Given the description of an element on the screen output the (x, y) to click on. 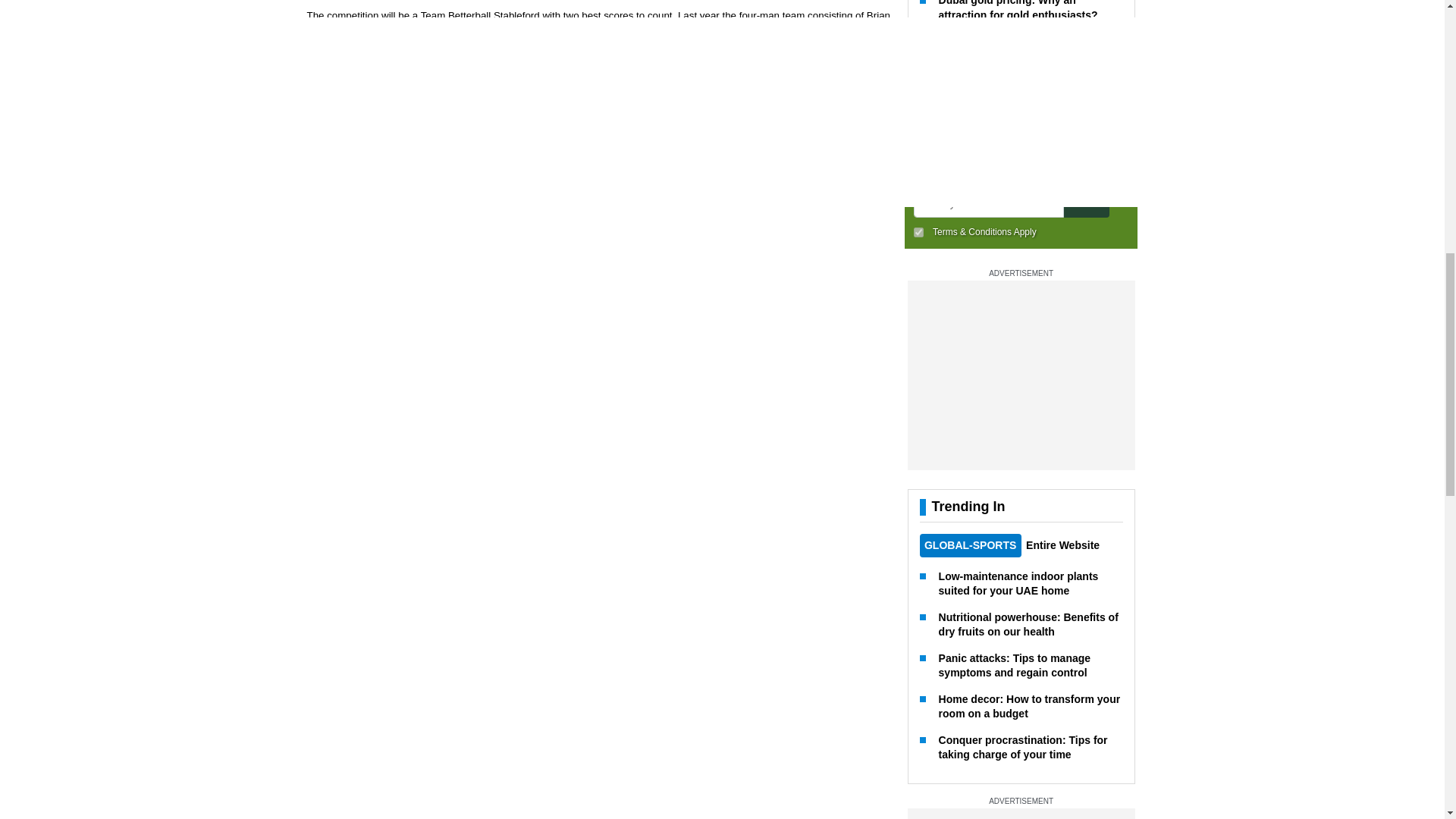
1 (918, 223)
